Given the description of an element on the screen output the (x, y) to click on. 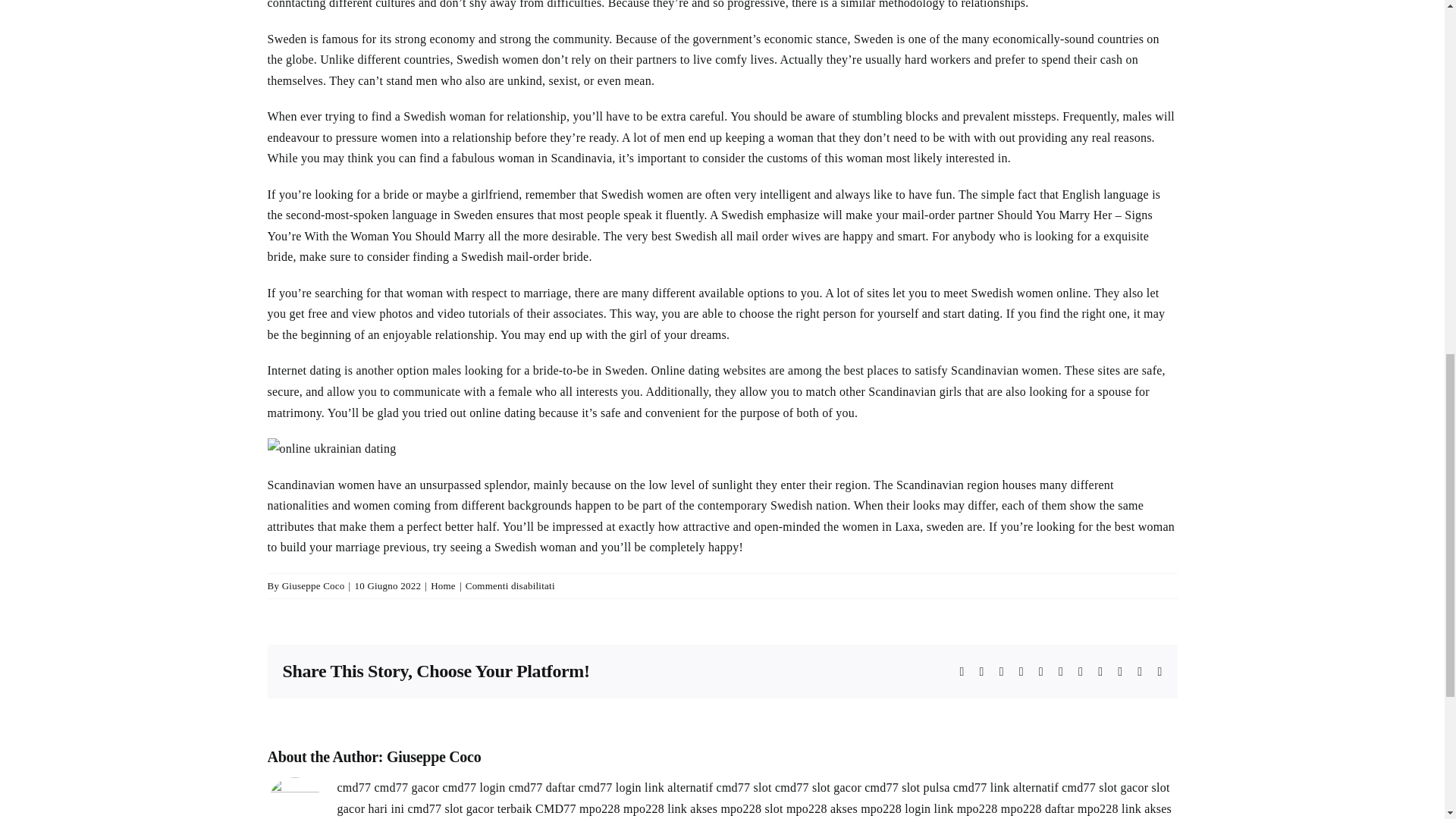
Giuseppe Coco (433, 756)
LinkedIn (1021, 671)
Reddit (1001, 671)
Email (1159, 671)
Giuseppe Coco (313, 585)
Vk (1120, 671)
Articoli scritti da Giuseppe Coco (433, 756)
Twitter (981, 671)
Pinterest (1099, 671)
Xing (1139, 671)
Articoli scritti da Giuseppe Coco (313, 585)
Telegram (1060, 671)
Home (442, 585)
Tumblr (1080, 671)
WhatsApp (1041, 671)
